Given the description of an element on the screen output the (x, y) to click on. 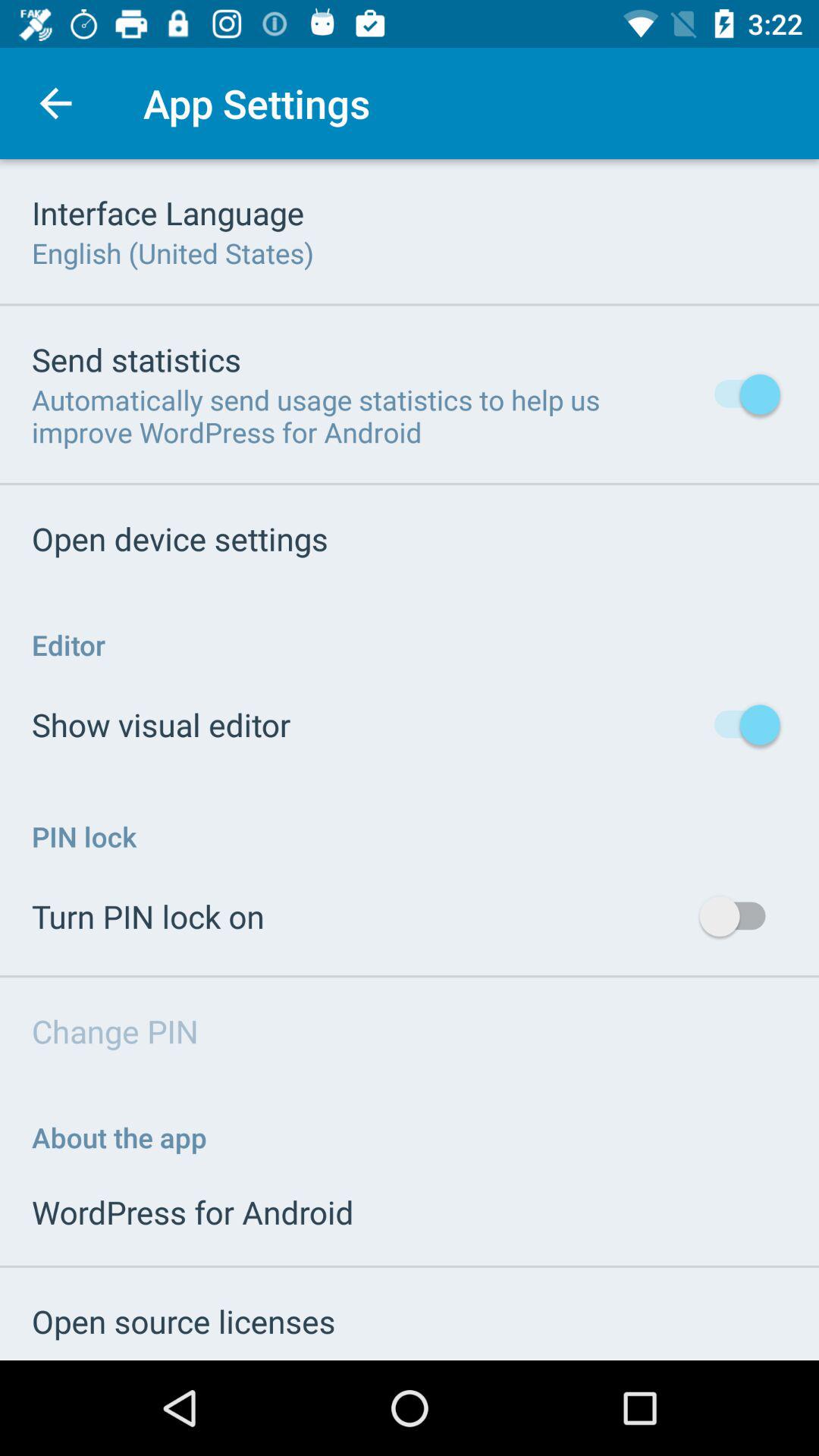
turn on item above the english (united states) item (167, 212)
